Given the description of an element on the screen output the (x, y) to click on. 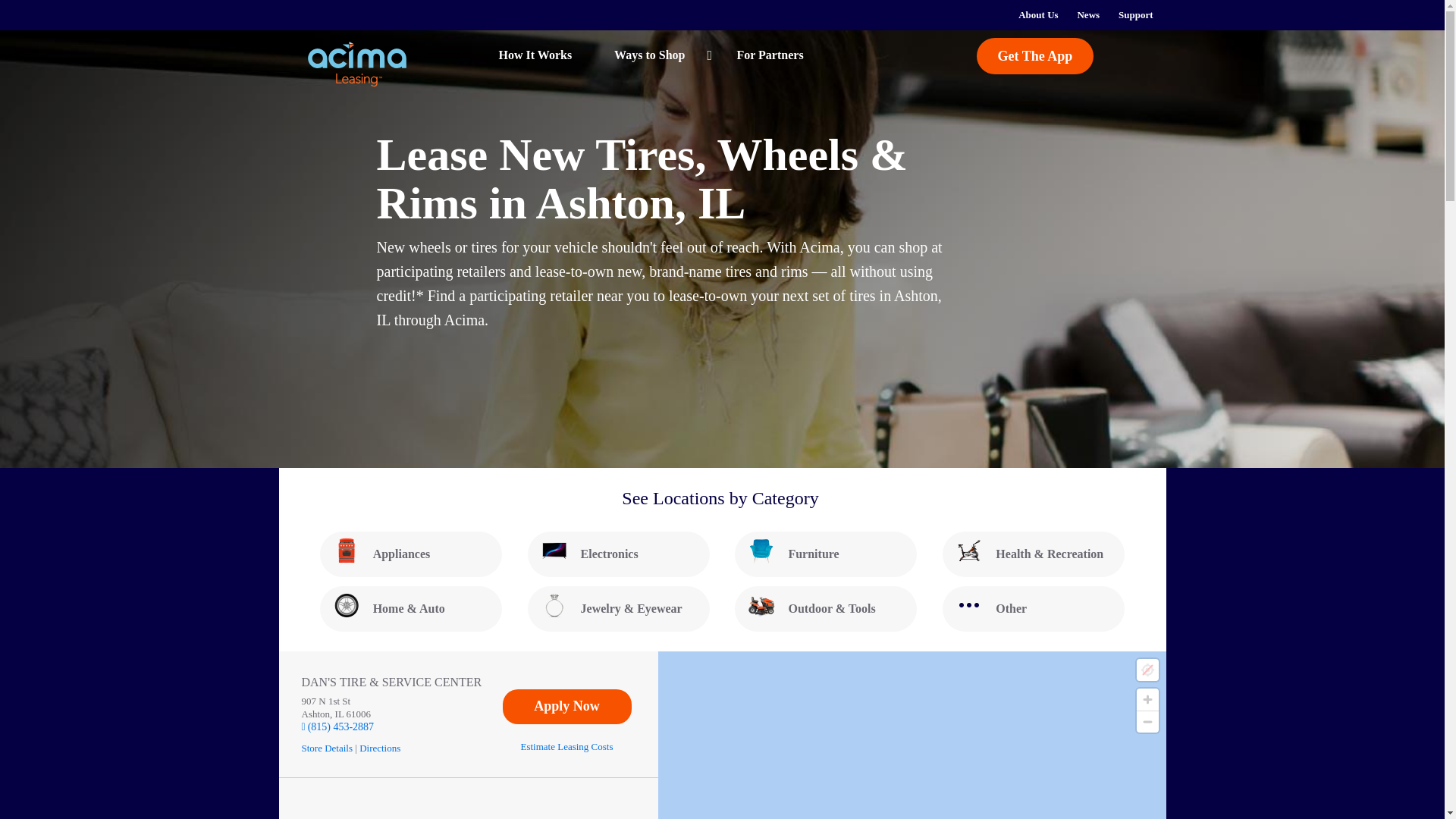
Find my location (1146, 669)
Zoom in (1146, 699)
Ways to Shop (653, 54)
How It Works (516, 54)
For Partners (769, 54)
About Us (1037, 15)
Acima (358, 63)
Electronics (618, 554)
Appliances (411, 554)
Furniture (826, 554)
Get The App (1035, 55)
Support (1136, 15)
Zoom out (1146, 721)
